Given the description of an element on the screen output the (x, y) to click on. 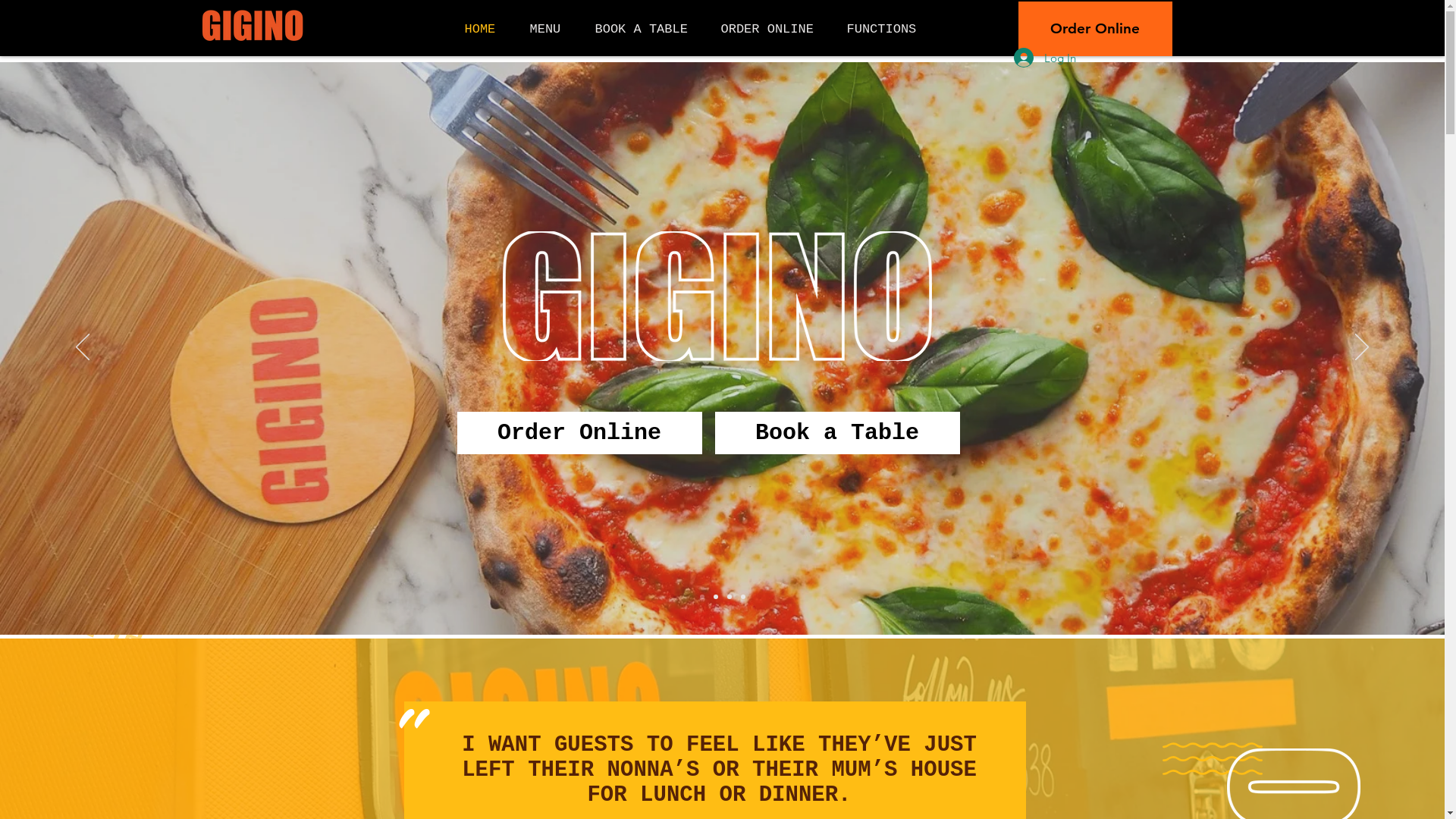
BOOK A TABLE Element type: text (646, 28)
HOME Element type: text (485, 28)
Order Online Element type: text (578, 432)
Book a Table Element type: text (836, 432)
MENU Element type: text (550, 28)
ORDER ONLINE Element type: text (772, 28)
Visitor Analytics Element type: hover (869, 577)
Order Online Element type: text (1094, 28)
Log In Element type: text (1043, 57)
FUNCTIONS Element type: text (886, 28)
